Given the description of an element on the screen output the (x, y) to click on. 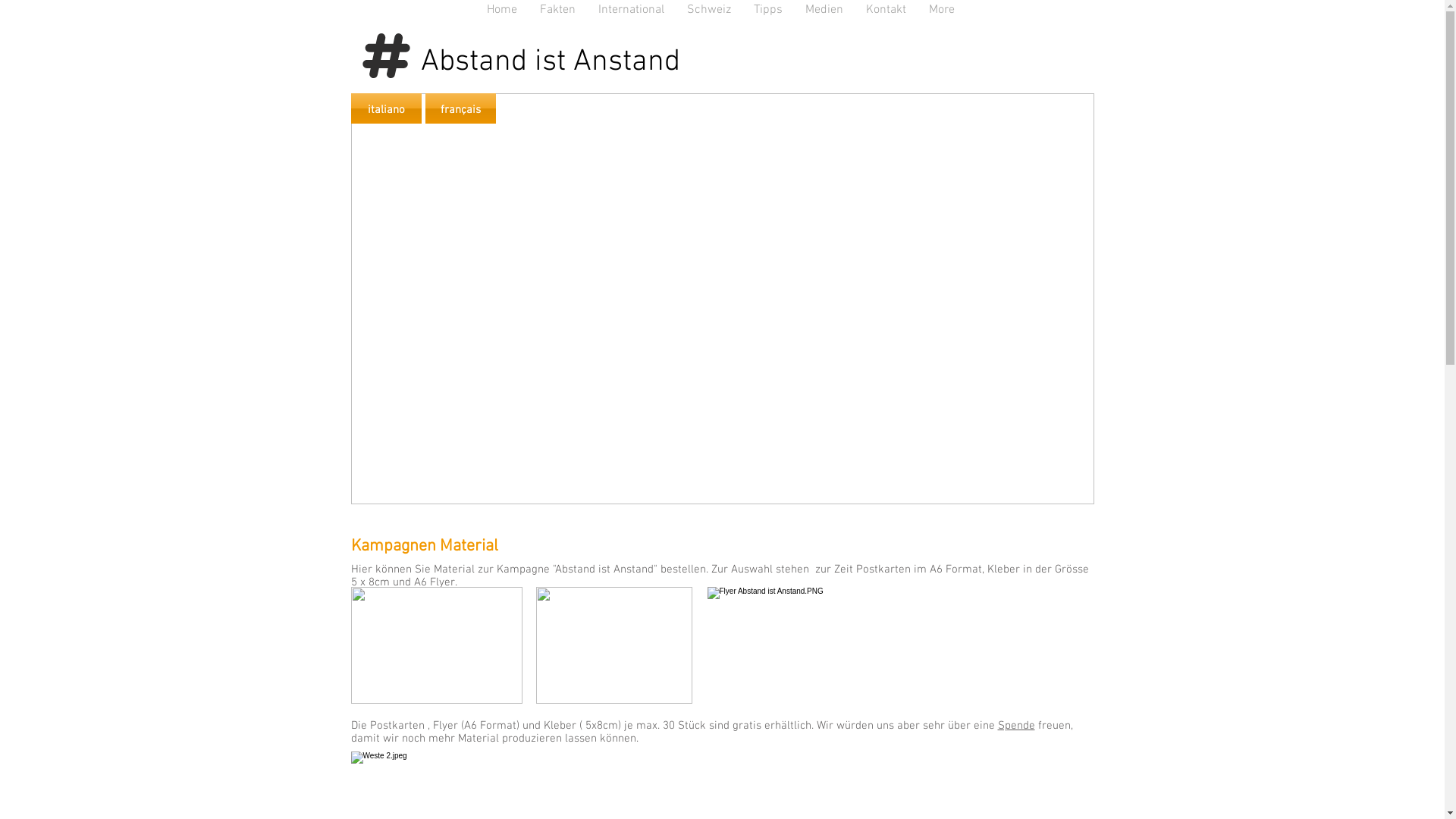
Kontakt Element type: text (885, 10)
International Element type: text (630, 10)
Medien Element type: text (823, 10)
italiano Element type: text (385, 108)
Spende Element type: text (1016, 724)
Schweiz Element type: text (708, 10)
Home Element type: text (501, 10)
Tipps Element type: text (767, 10)
Fakten Element type: text (557, 10)
